Given the description of an element on the screen output the (x, y) to click on. 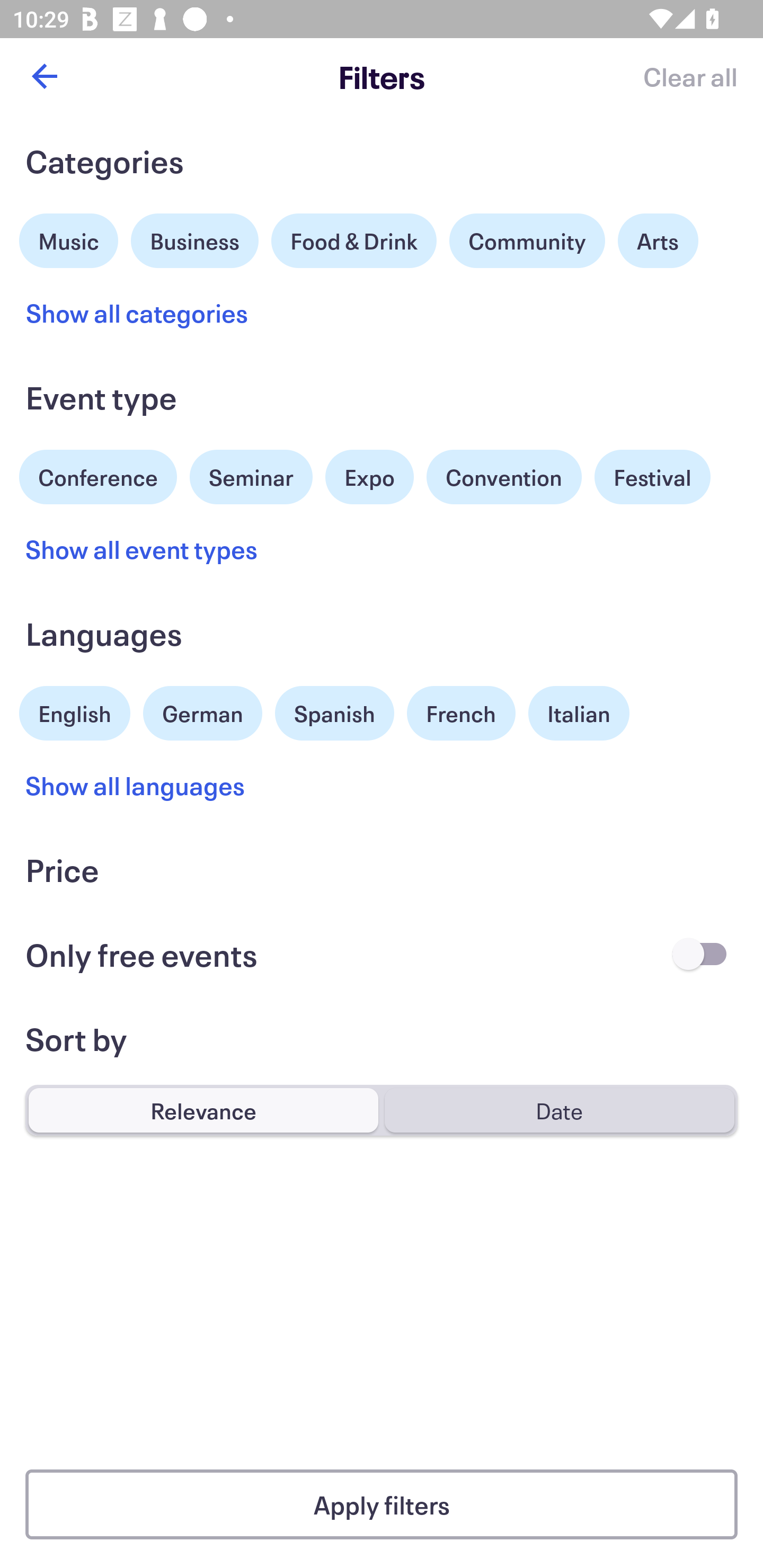
Back button (44, 75)
Clear all (690, 75)
Music (68, 238)
Business (194, 238)
Food & Drink (353, 240)
Community (527, 240)
Arts (658, 240)
Show all categories (136, 312)
Conference (98, 475)
Seminar (250, 477)
Expo (369, 477)
Convention (503, 477)
Festival (652, 477)
Show all event types (141, 548)
English (74, 710)
German (202, 710)
Spanish (334, 713)
French (460, 713)
Italian (578, 713)
Show all languages (135, 784)
Relevance (203, 1109)
Date (559, 1109)
Apply filters (381, 1504)
